Given the description of an element on the screen output the (x, y) to click on. 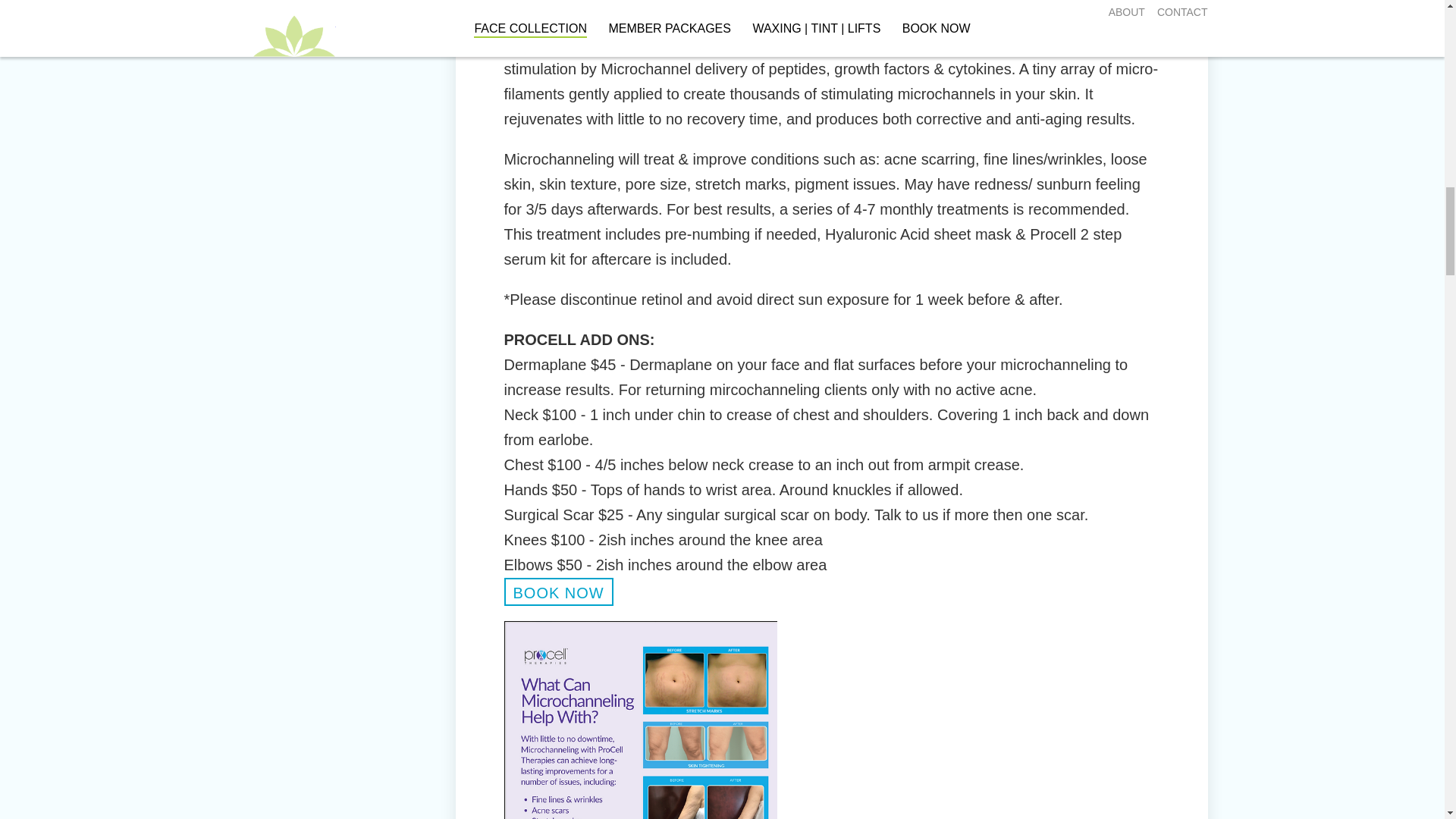
BOOK NOW (557, 592)
